Given the description of an element on the screen output the (x, y) to click on. 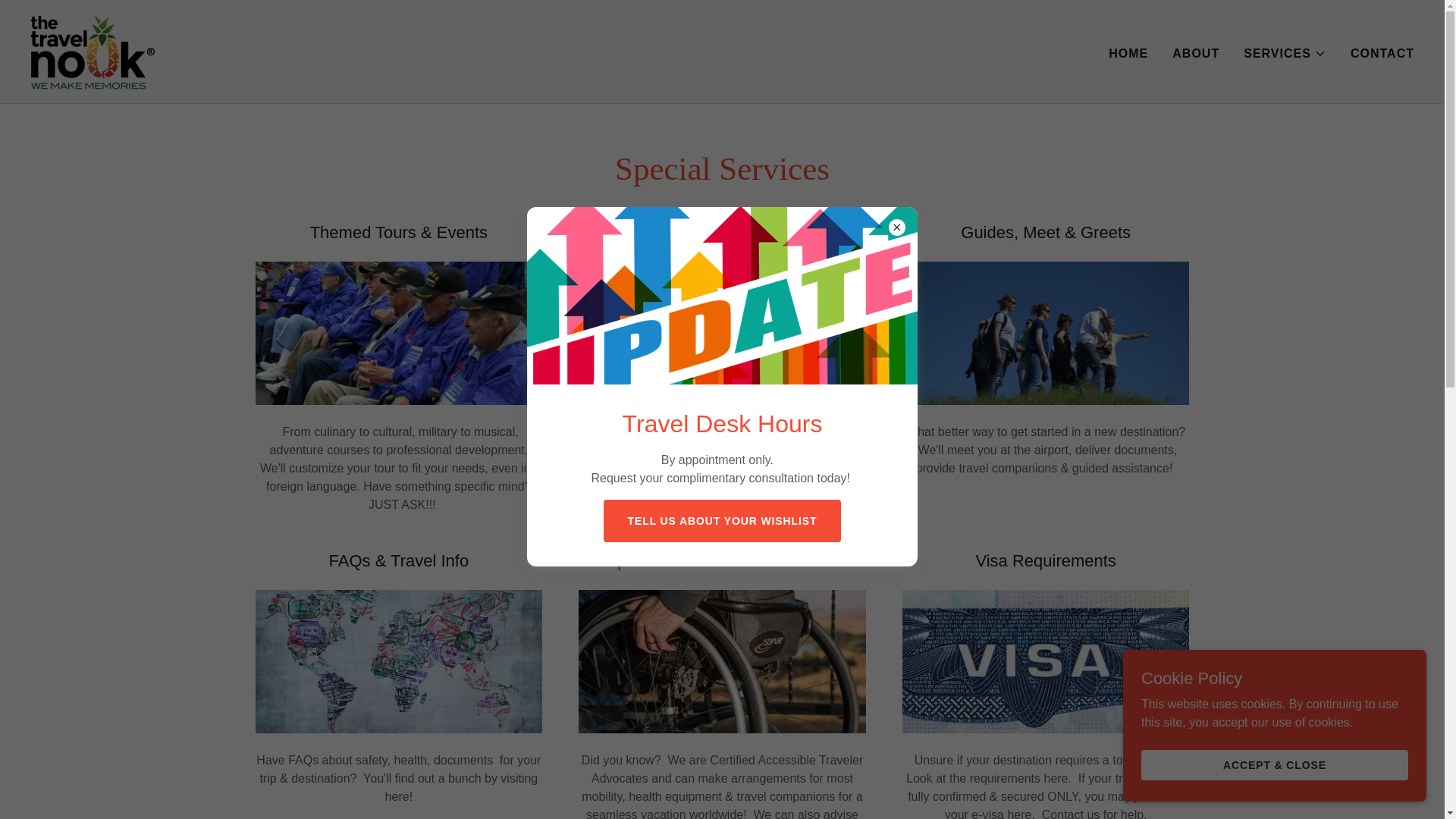
HOME (1128, 52)
CONTACT (1381, 52)
SERVICES (1284, 53)
ABOUT (1195, 52)
